Given the description of an element on the screen output the (x, y) to click on. 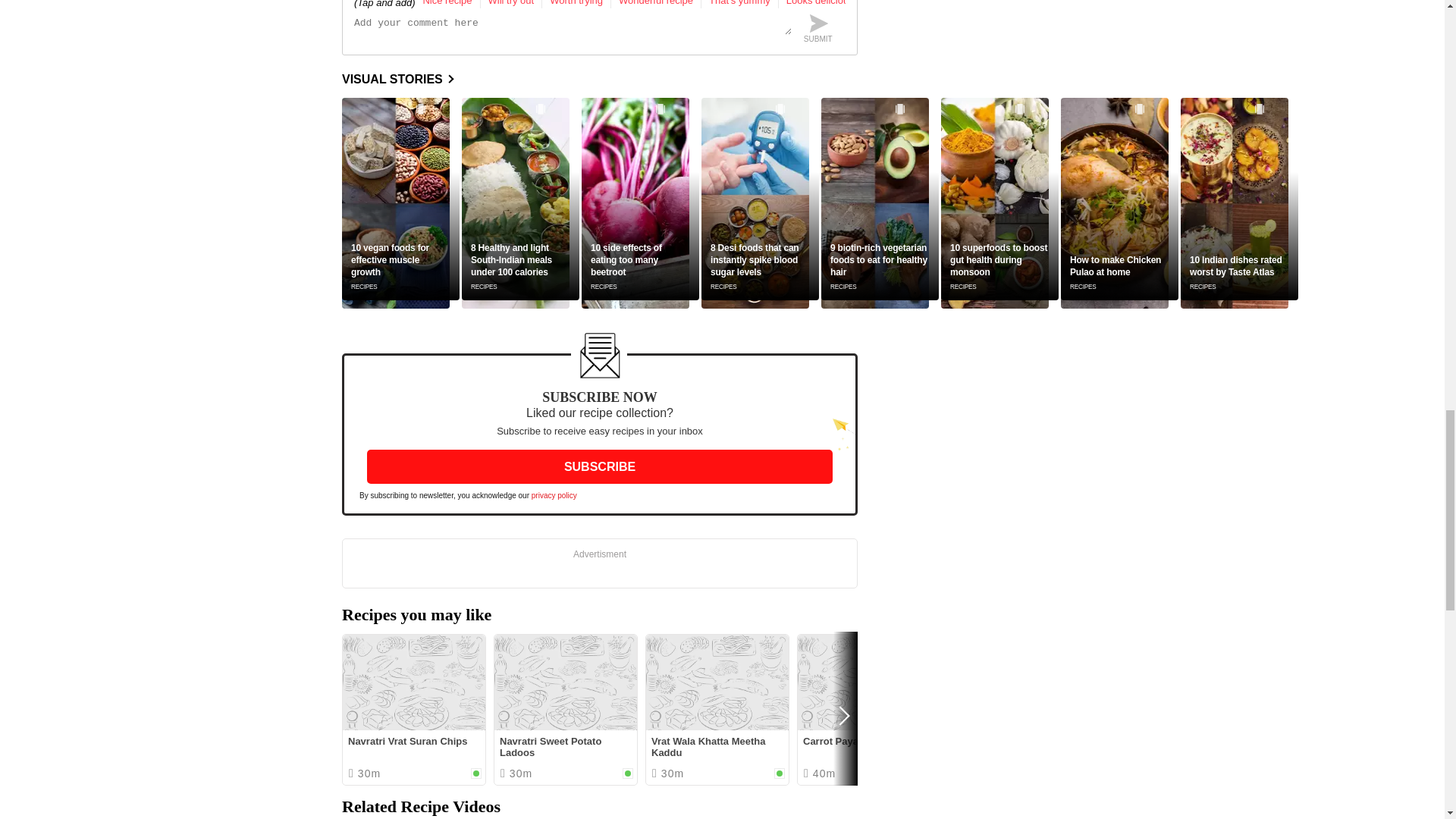
Carrot Payasam (868, 681)
Vrat Wala Khatta Meetha Kaddu (717, 681)
Navratri Sweet Potato Ladoos (566, 681)
Navratri Vrat Suran Chips (413, 681)
